Given the description of an element on the screen output the (x, y) to click on. 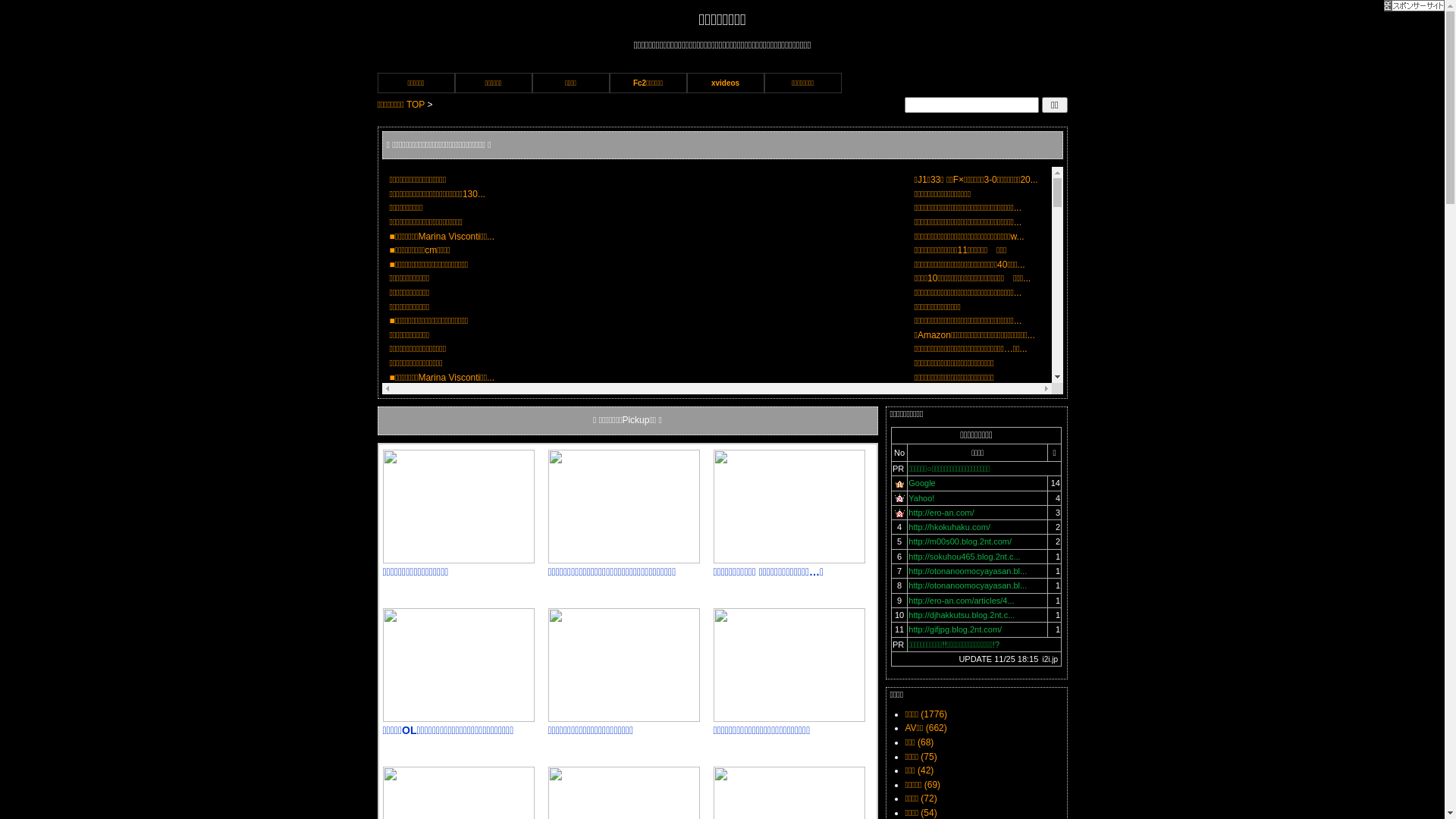
Yahoo! Element type: text (921, 497)
http://djhakkutsu.blog.2nt.c... Element type: text (961, 614)
xvideos Element type: text (725, 82)
http://otonanoomocyayasan.bl... Element type: text (967, 584)
Google Element type: text (921, 482)
http://sokuhou465.blog.2nt.c... Element type: text (963, 556)
http://gifjpg.blog.2nt.com/ Element type: text (954, 628)
http://m00s00.blog.2nt.com/ Element type: text (959, 541)
i2i.jp Element type: text (1049, 659)
http://ero-an.com/articles/4... Element type: text (960, 600)
http://ero-an.com/ Element type: text (940, 512)
http://hkokuhaku.com/ Element type: text (949, 526)
http://otonanoomocyayasan.bl... Element type: text (967, 570)
